Given the description of an element on the screen output the (x, y) to click on. 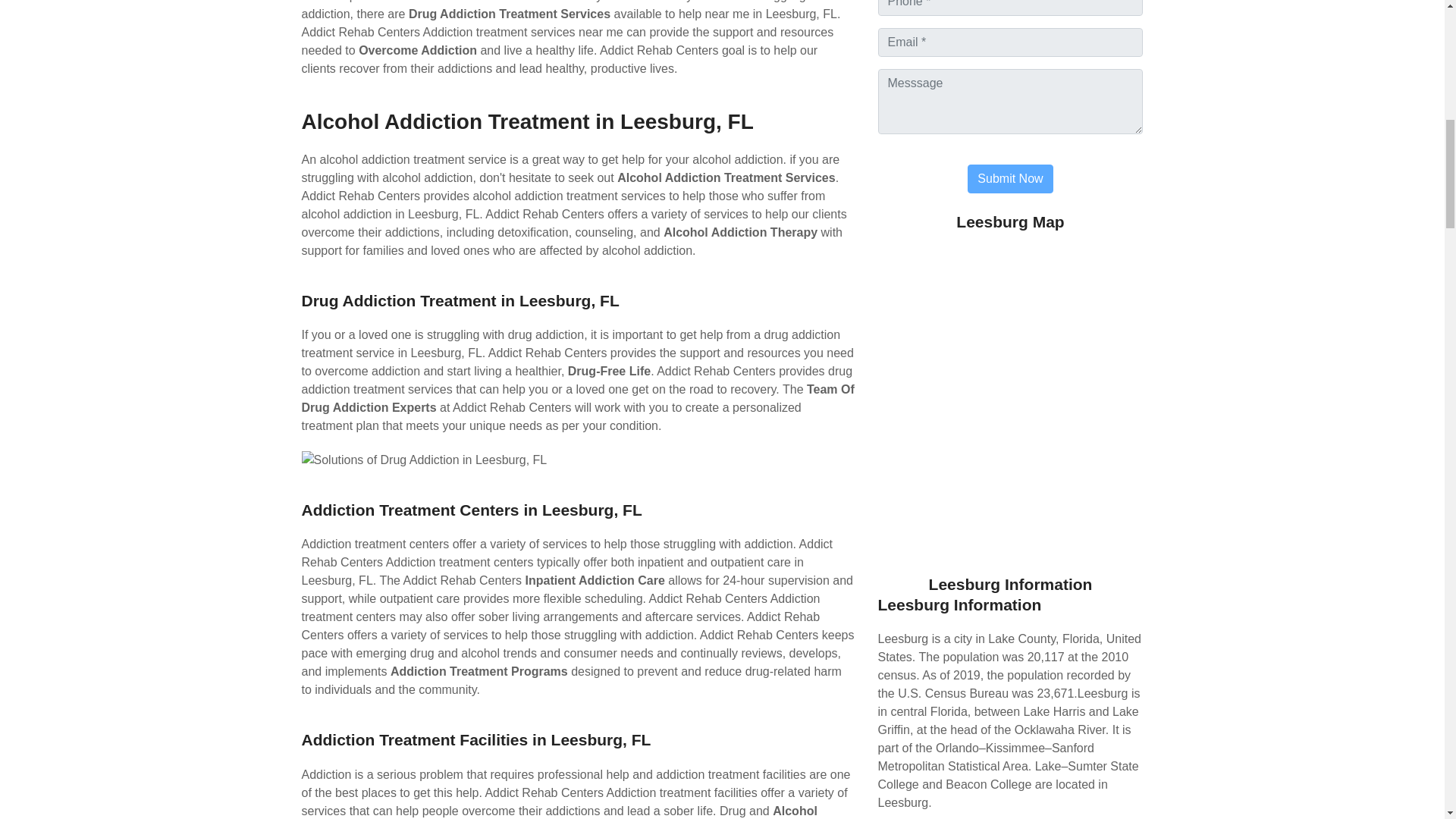
Submit Now (1010, 178)
